Given the description of an element on the screen output the (x, y) to click on. 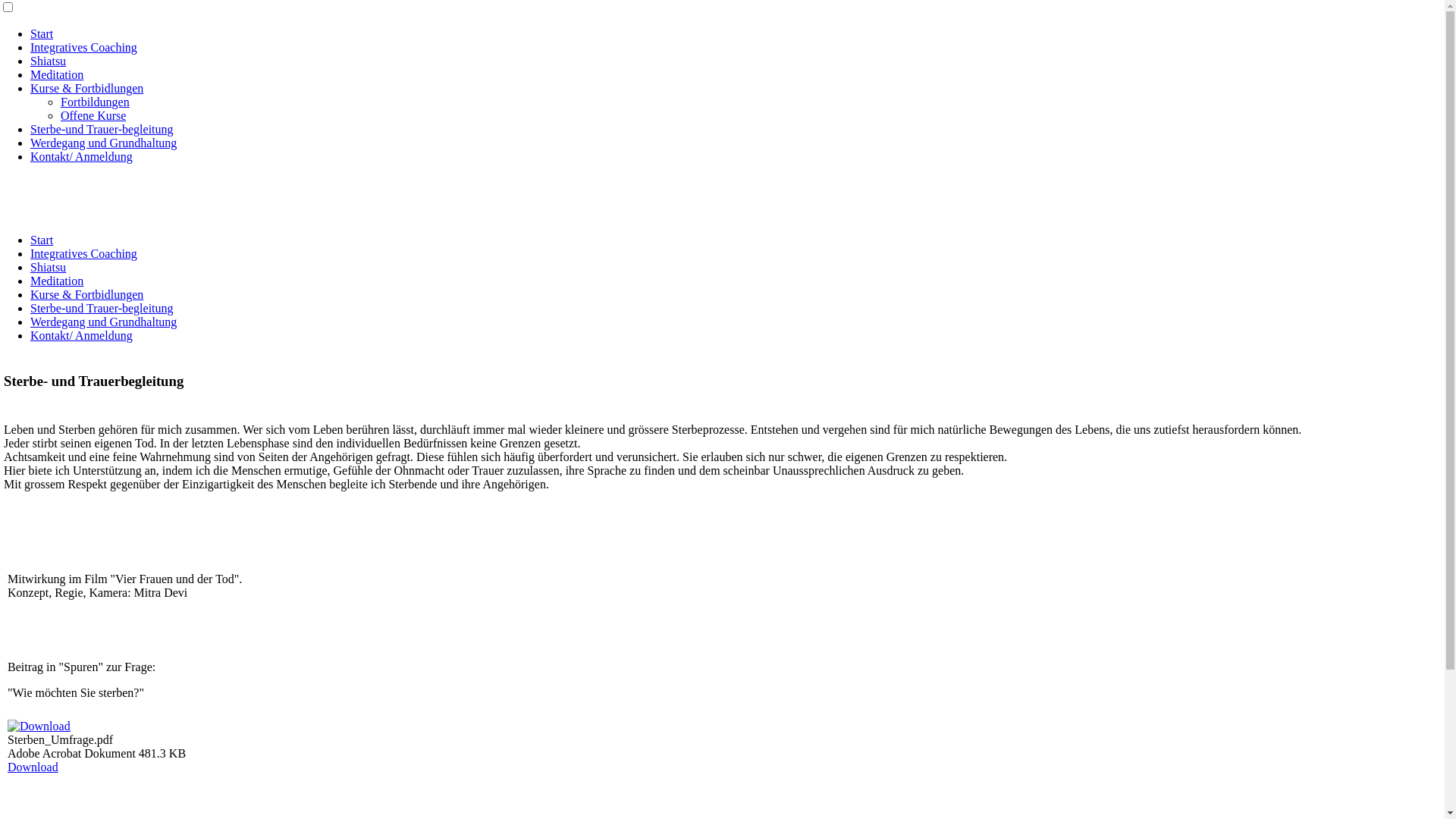
Meditation Element type: text (56, 74)
Shiatsu Element type: text (47, 266)
Kurse & Fortbidlungen Element type: text (86, 87)
Shiatsu Element type: text (47, 60)
Sterbe-und Trauer-begleitung Element type: text (101, 128)
Werdegang und Grundhaltung Element type: text (103, 142)
Offene Kurse Element type: text (92, 115)
Sterbe-und Trauer-begleitung Element type: text (101, 307)
Start Element type: text (41, 239)
Fortbildungen Element type: text (94, 101)
Integratives Coaching Element type: text (83, 46)
Download Element type: text (32, 766)
Start Element type: text (41, 33)
Meditation Element type: text (56, 280)
Kurse & Fortbidlungen Element type: text (86, 294)
Kontakt/ Anmeldung Element type: text (81, 156)
Integratives Coaching Element type: text (83, 253)
Kontakt/ Anmeldung Element type: text (81, 335)
Werdegang und Grundhaltung Element type: text (103, 321)
